Given the description of an element on the screen output the (x, y) to click on. 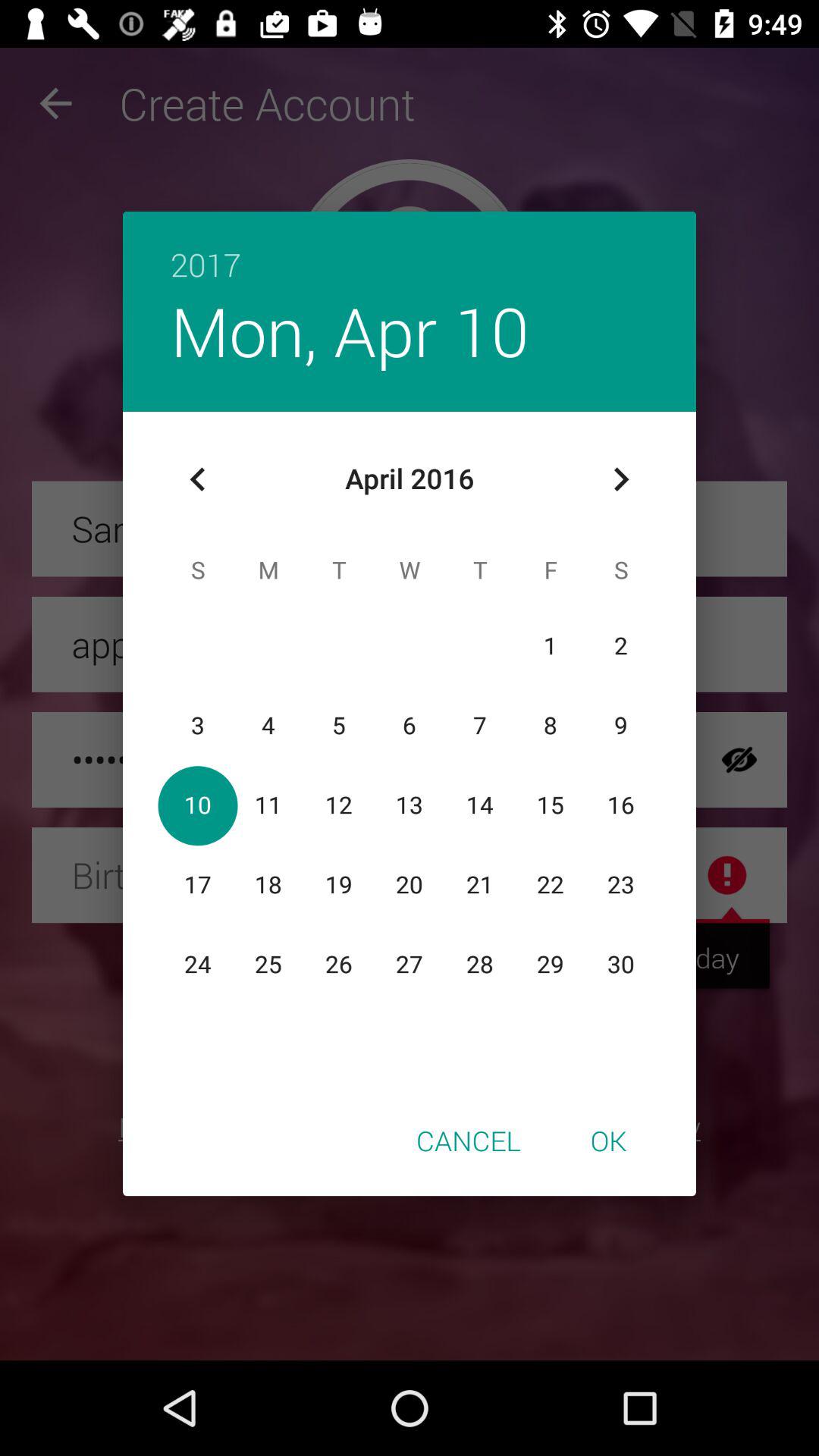
flip until the 2017 icon (409, 248)
